Given the description of an element on the screen output the (x, y) to click on. 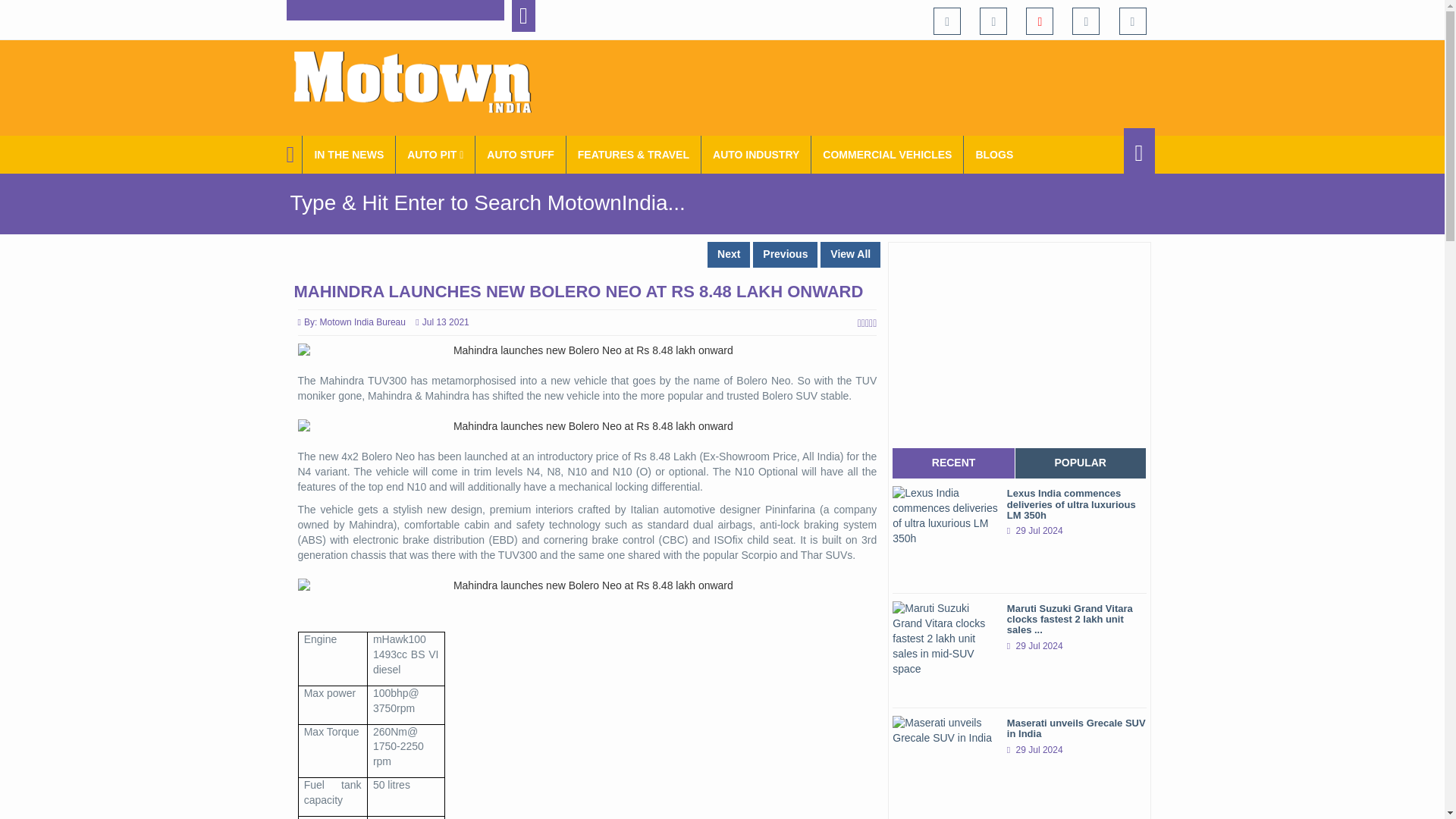
View All (850, 254)
MotownIndia (421, 81)
IN THE NEWS (349, 154)
Motown India on Instagram (1085, 21)
Motown India on Twitter (993, 21)
Next (728, 254)
Previous (784, 254)
View All Auto-Pit - Motown India (436, 154)
Motown India on Facebook (946, 21)
Motown India on LinkedIn (1133, 21)
